Given the description of an element on the screen output the (x, y) to click on. 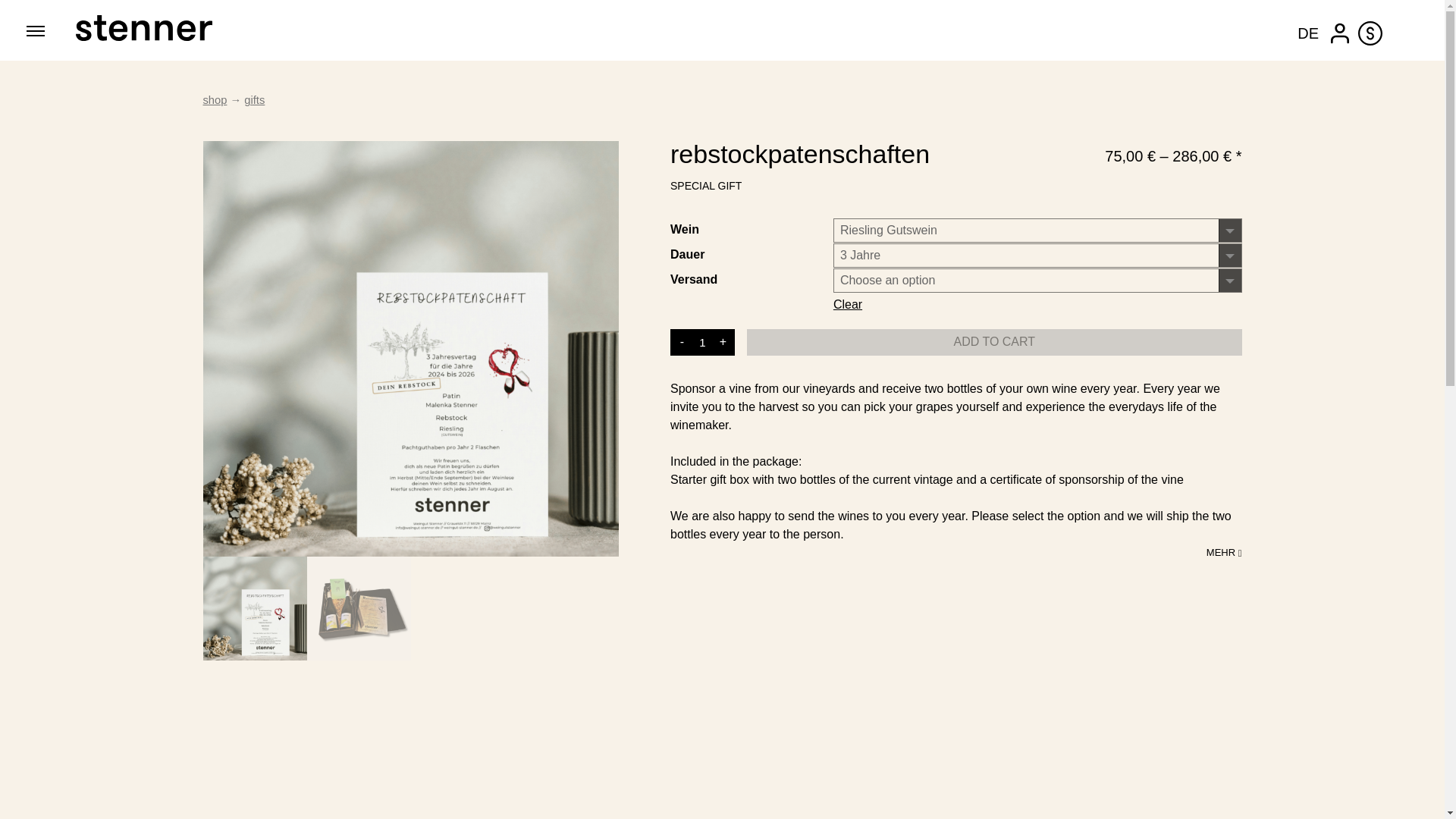
Qty (702, 342)
 DE (1305, 33)
ADD TO CART (993, 342)
Choose an option (1037, 280)
Riesling Gutswein (1037, 230)
- (681, 342)
Clear (846, 304)
1 (702, 342)
shop (215, 100)
gifts (254, 100)
3 Jahre (1037, 255)
